Given the description of an element on the screen output the (x, y) to click on. 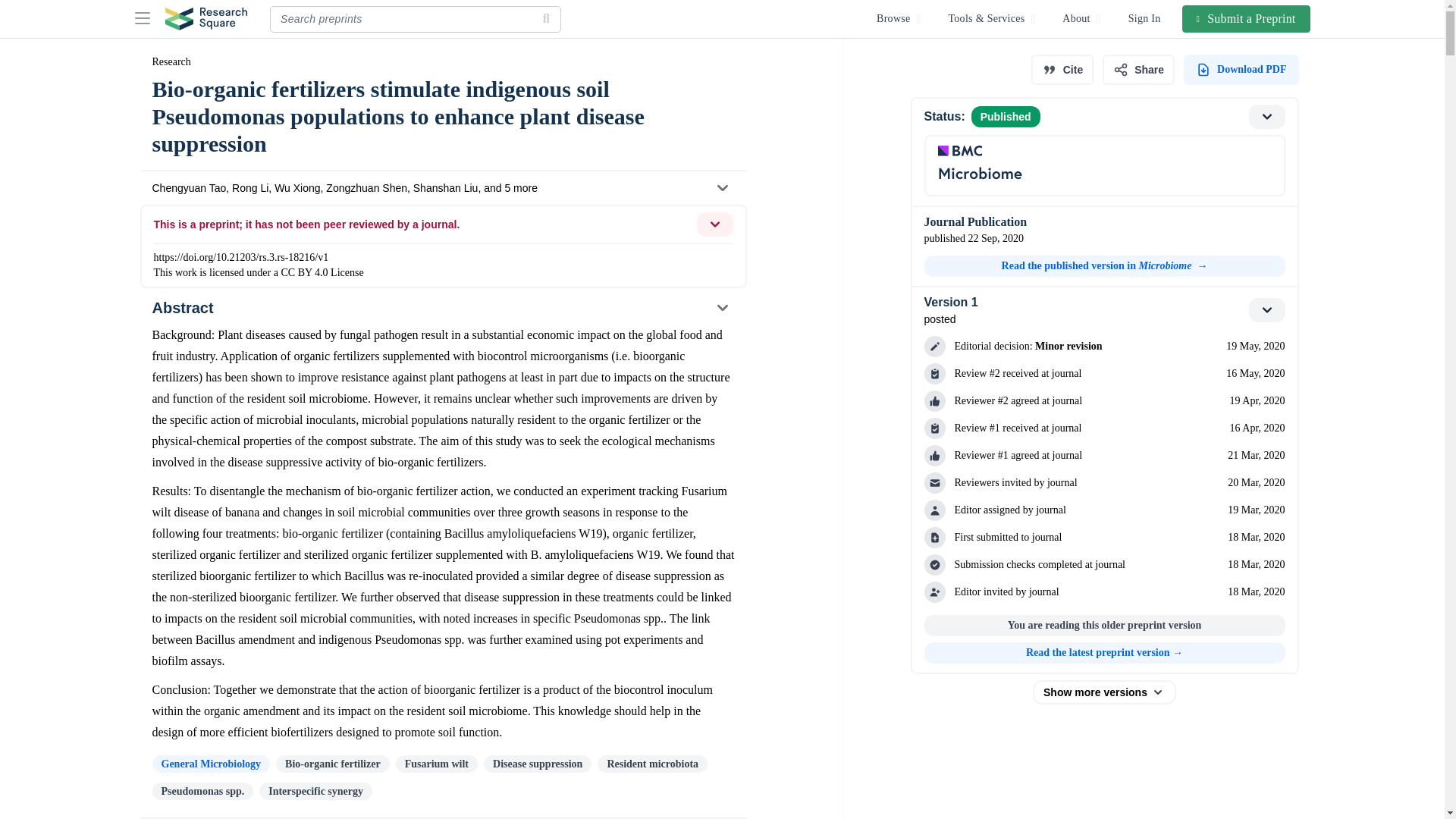
Abstract (442, 307)
Submit a Preprint (1246, 18)
Sign In (1144, 18)
General Microbiology (210, 764)
